Given the description of an element on the screen output the (x, y) to click on. 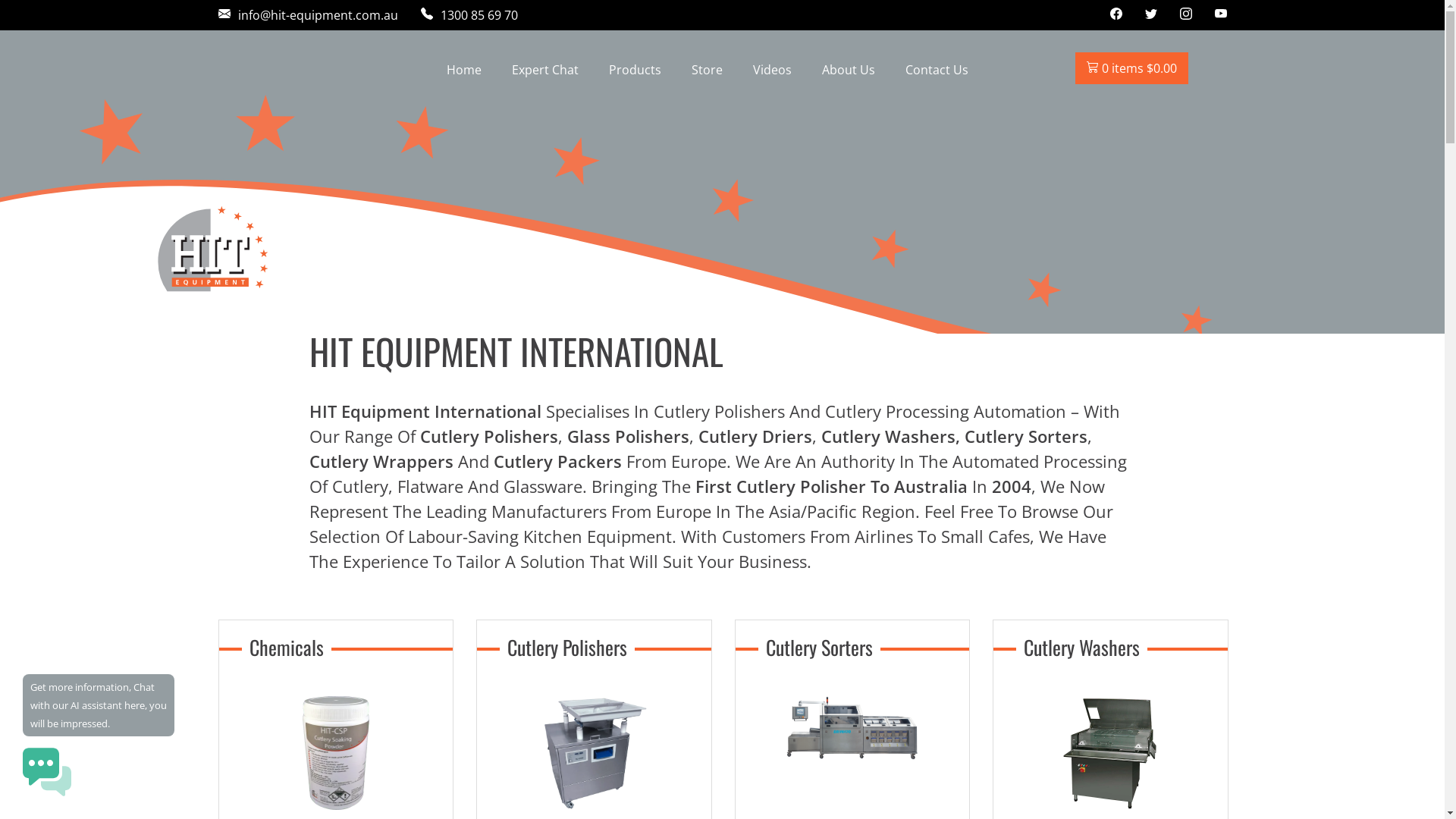
Chemicals Element type: text (335, 805)
Store Element type: text (706, 69)
Home Element type: text (462, 69)
0 items $0.00 Element type: text (1131, 68)
Cutlery Washers Element type: text (1110, 805)
Contact Us Element type: text (936, 69)
Expert Chat Element type: text (544, 69)
info@hit-equipment.com.au Element type: text (308, 15)
1300 85 69 70 Element type: text (468, 15)
Videos Element type: text (771, 69)
Cutlery Sorters Element type: text (851, 754)
About Us Element type: text (848, 69)
Cutlery Polishers Element type: text (593, 805)
Products Element type: text (634, 69)
